Given the description of an element on the screen output the (x, y) to click on. 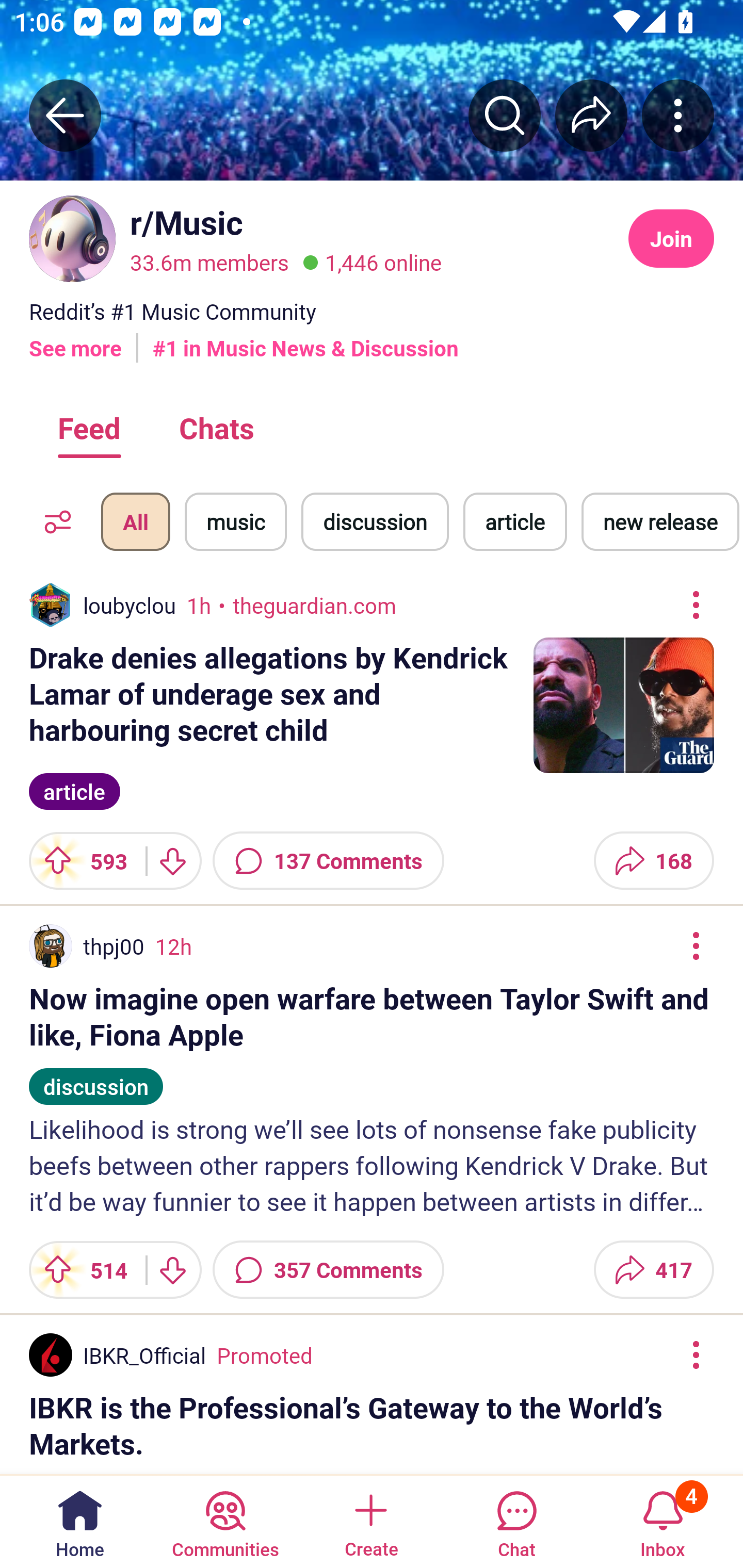
Back (64, 115)
Search r/﻿Music (504, 115)
Share r/﻿Music (591, 115)
More community actions (677, 115)
Chats (216, 427)
Feed Options (53, 521)
All (135, 521)
music (235, 521)
discussion (374, 521)
article (514, 521)
new release (660, 521)
article (74, 789)
discussion (95, 1076)
Home (80, 1520)
Communities (225, 1520)
Create a post Create (370, 1520)
Chat (516, 1520)
Inbox, has 4 notifications 4 Inbox (662, 1520)
